Given the description of an element on the screen output the (x, y) to click on. 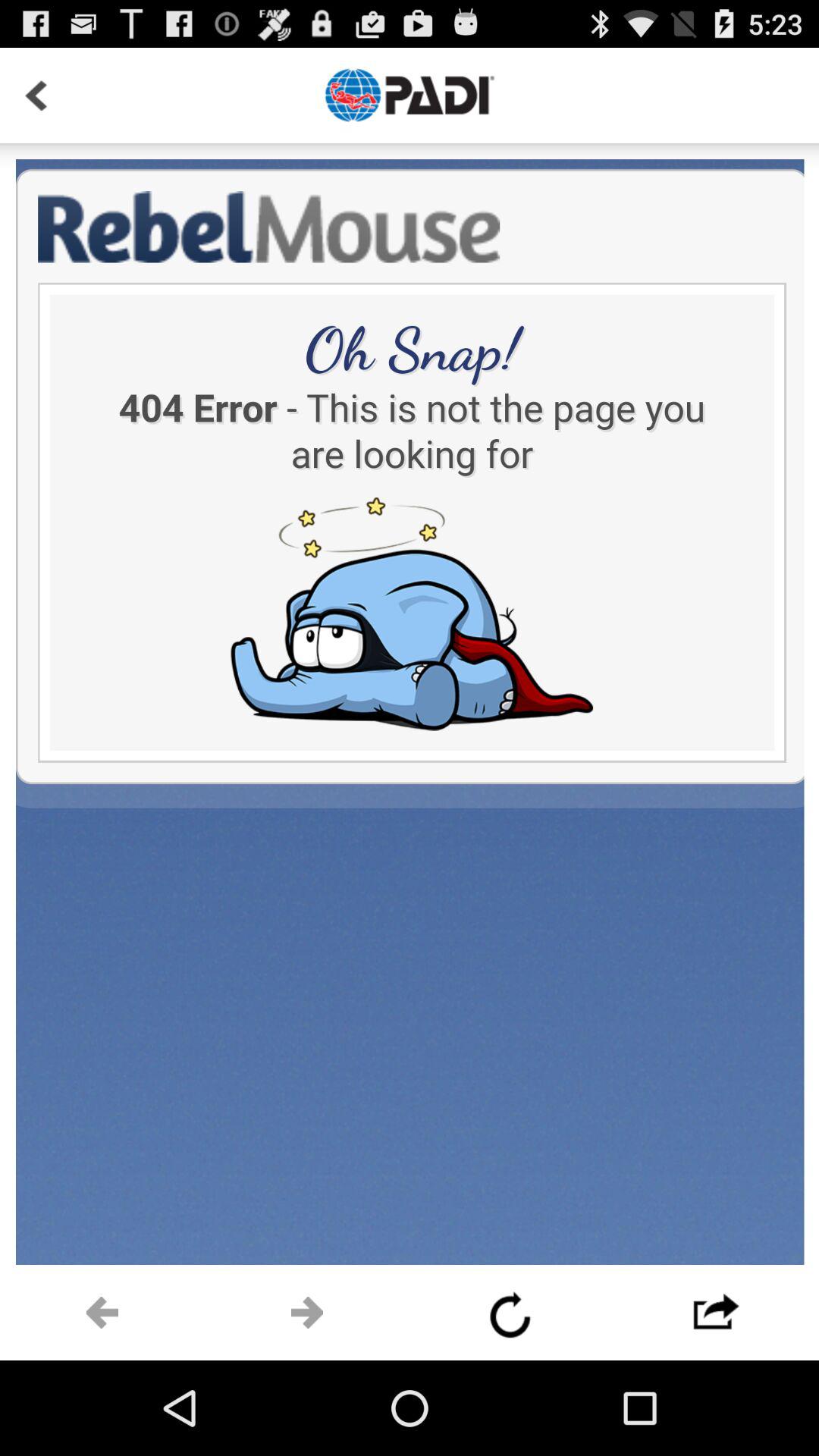
go back (35, 95)
